Given the description of an element on the screen output the (x, y) to click on. 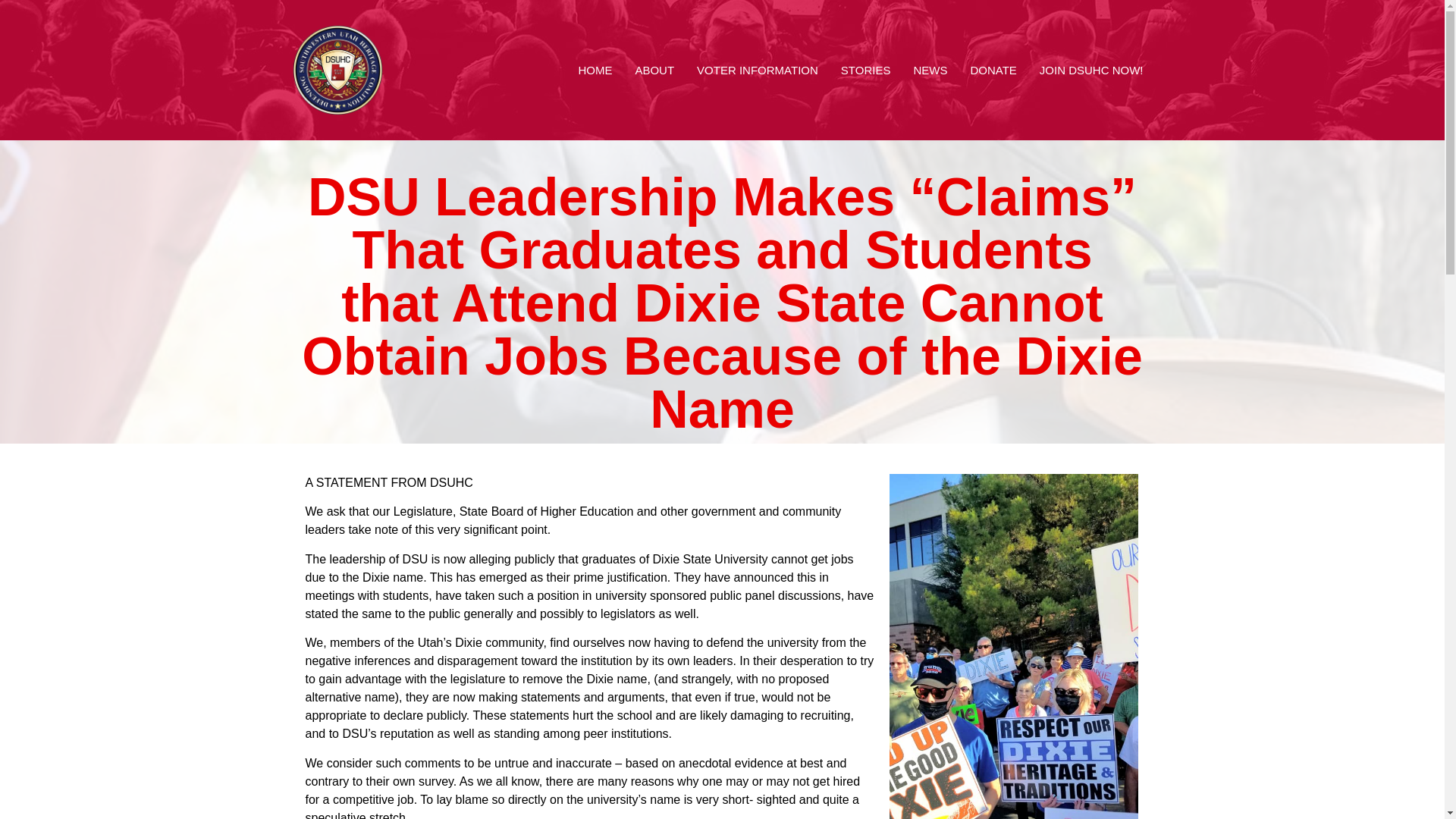
STORIES (865, 69)
JOIN DSUHC NOW! (1090, 69)
DONATE (992, 69)
NEWS (929, 69)
HOME (594, 69)
VOTER INFORMATION (757, 69)
ABOUT (654, 69)
